Given the description of an element on the screen output the (x, y) to click on. 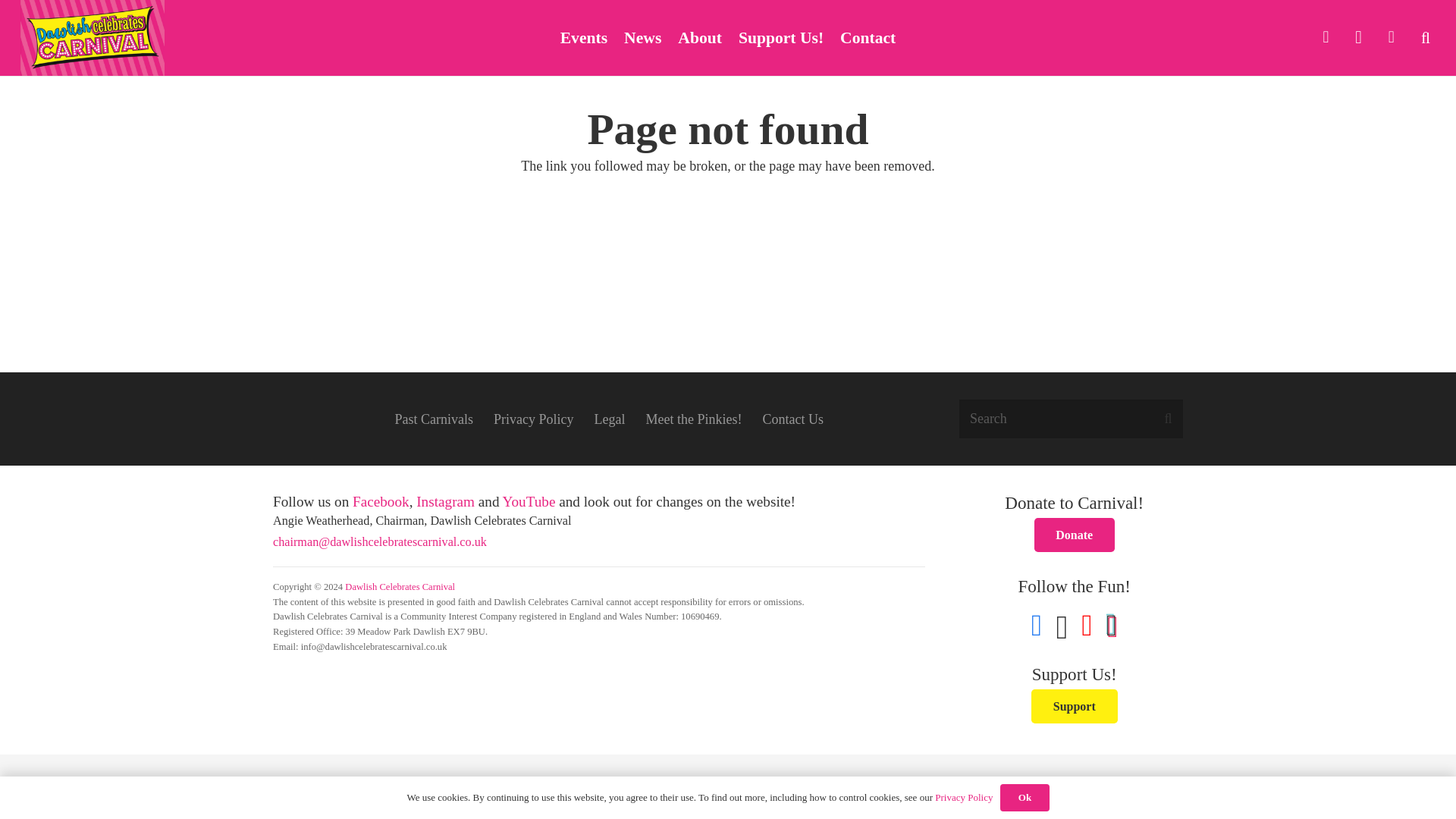
Support Dawlish Carnival (1074, 706)
YouTube (1390, 37)
Dawlish Celebrates Carnival (399, 586)
Instagram (1358, 37)
Support Us! (780, 38)
Donate to Carnival! (1074, 534)
Contact (867, 38)
Facebook (1325, 37)
